Given the description of an element on the screen output the (x, y) to click on. 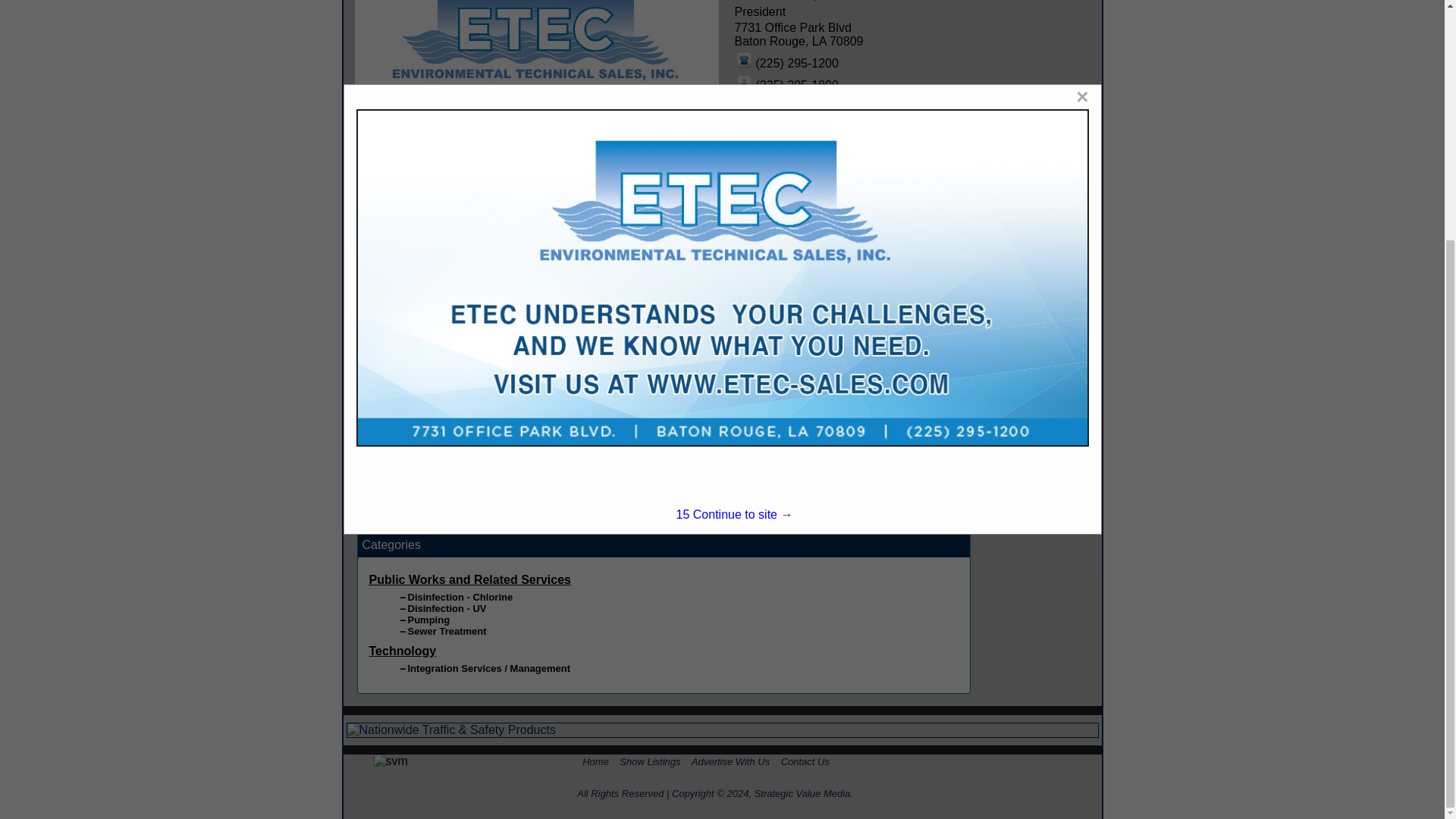
Home (595, 761)
View Larger Map (1038, 419)
Show Listings (649, 761)
Contact Us (804, 761)
Advertise With Us (730, 761)
